Given the description of an element on the screen output the (x, y) to click on. 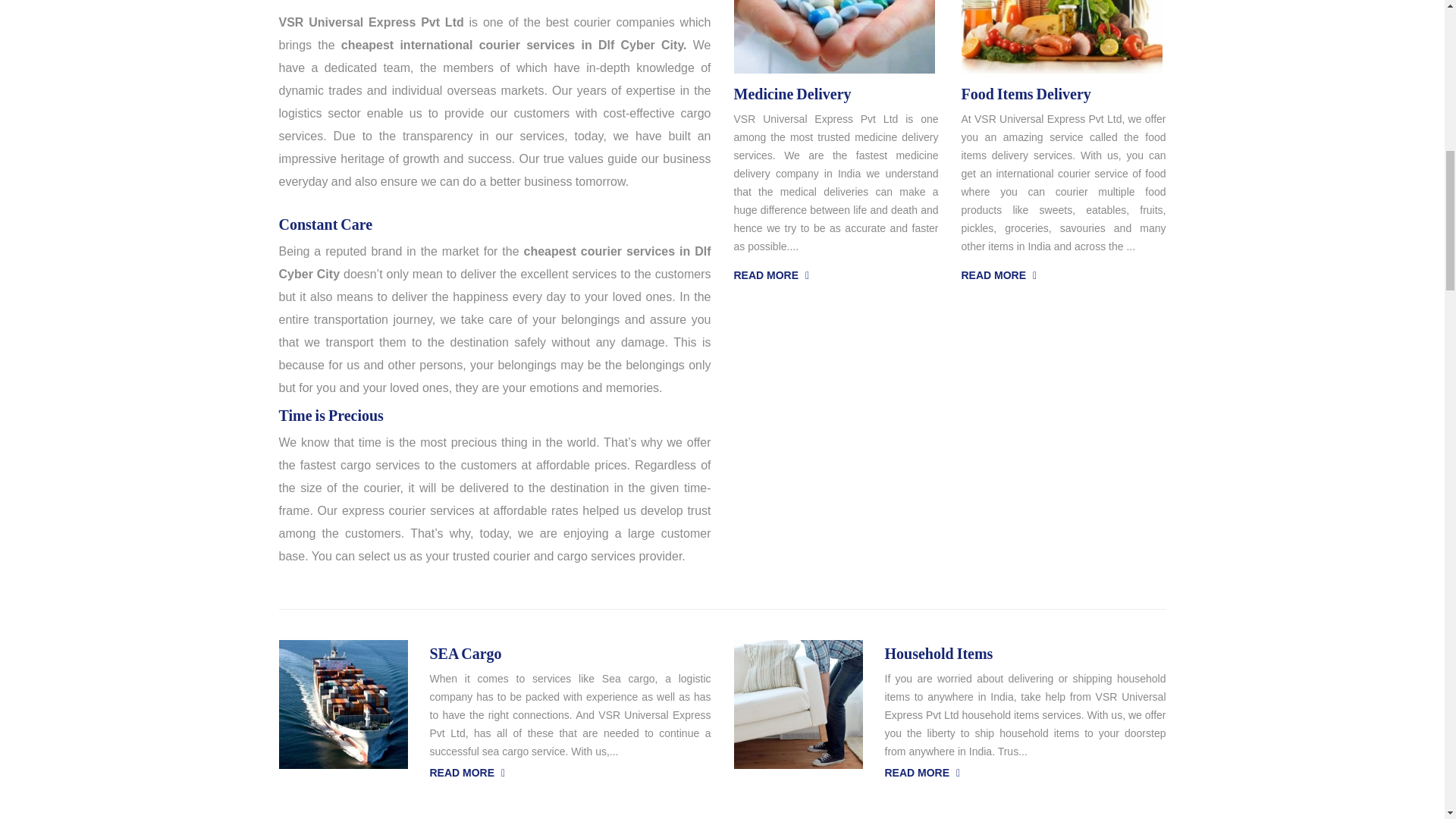
READ MORE (998, 275)
READ MORE (771, 275)
